Given the description of an element on the screen output the (x, y) to click on. 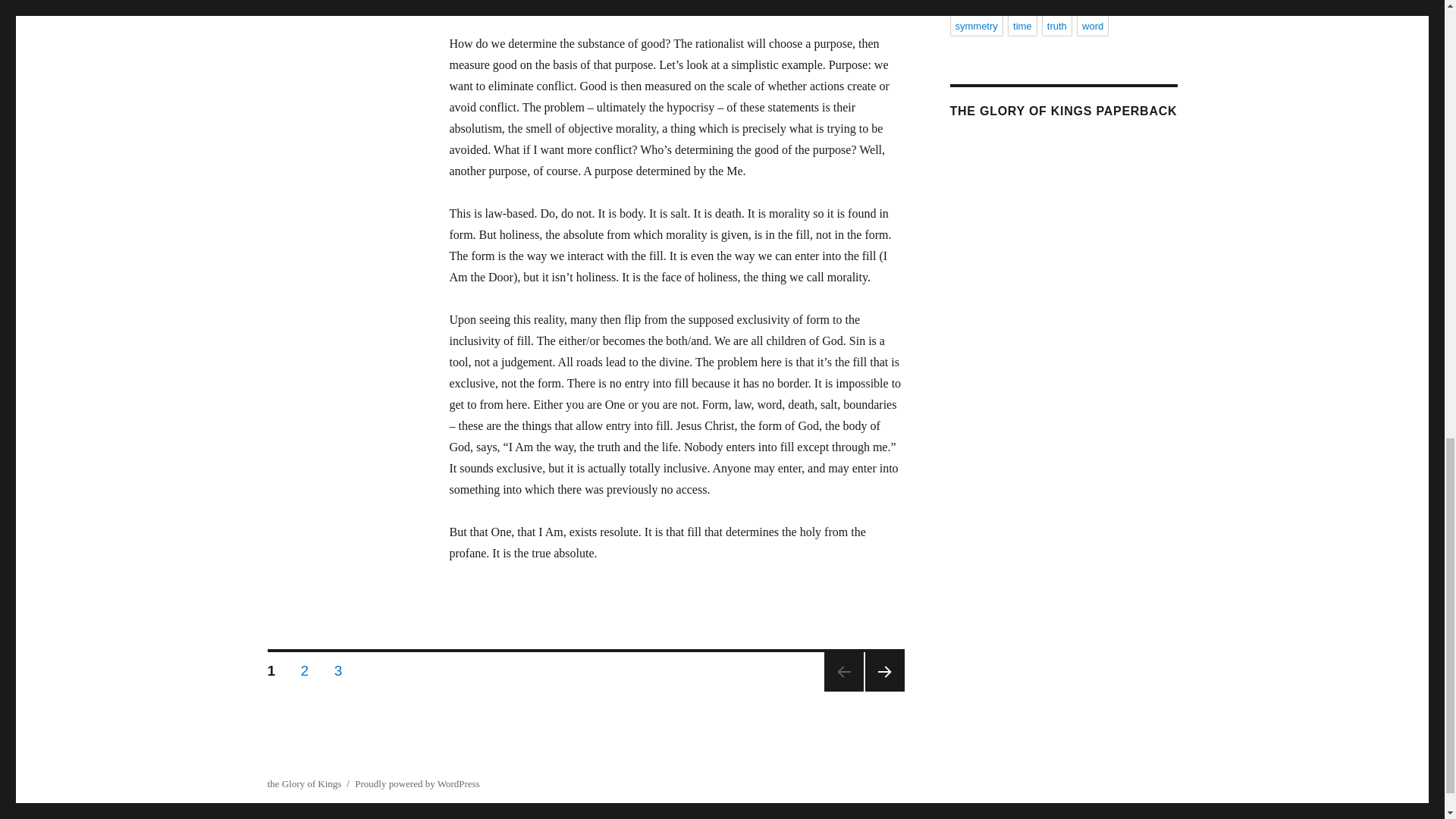
NEXT PAGE (884, 671)
